Given the description of an element on the screen output the (x, y) to click on. 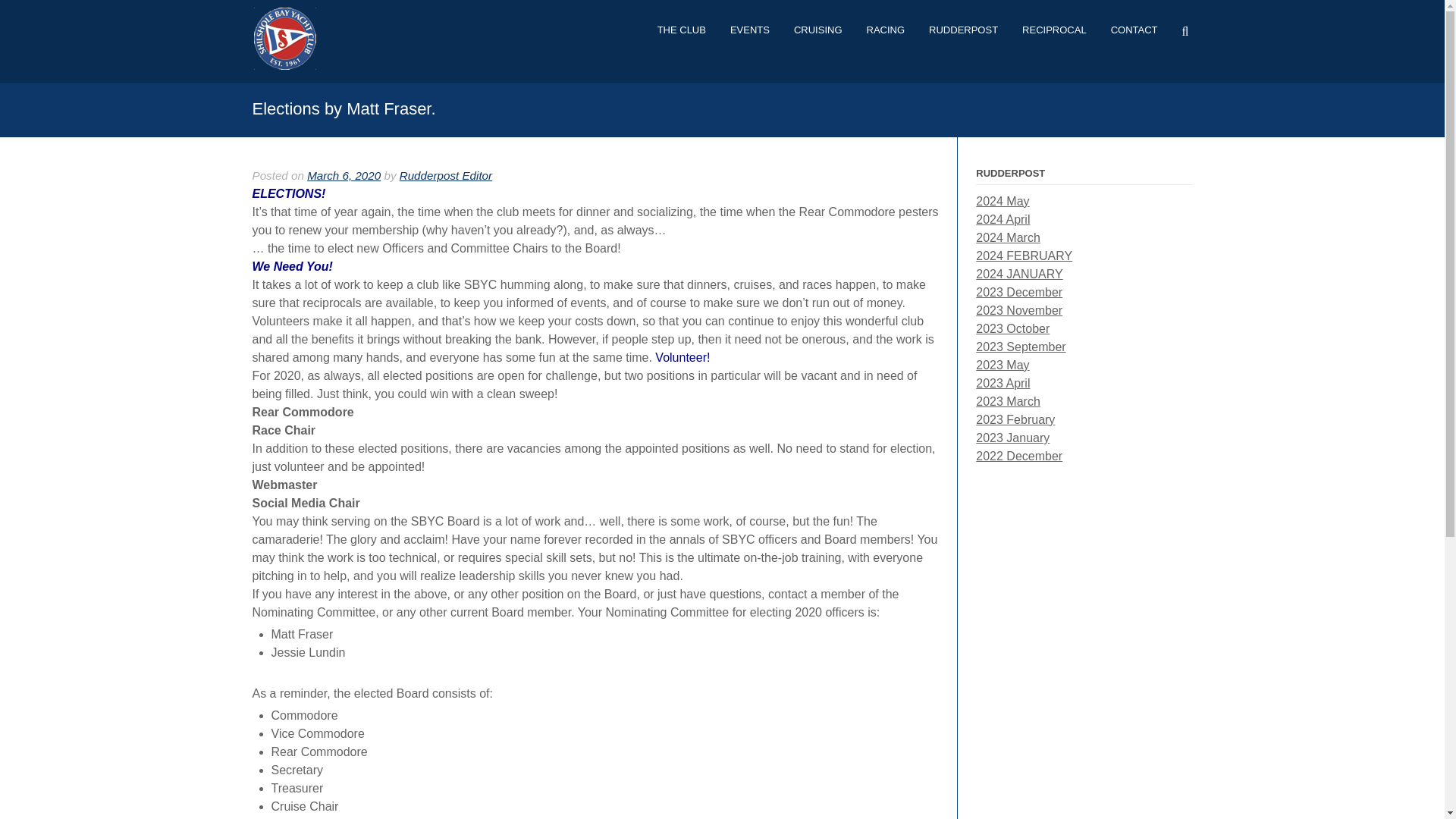
Rudderpost Editor (445, 174)
CONTACT (1134, 35)
2023 December (1018, 291)
RECIPROCAL (1054, 35)
2024 April (1002, 219)
CRUISING (817, 35)
Shilshole Bay Yacht Club (284, 65)
2022 December (1018, 455)
2024 May (1002, 201)
2023 April (1002, 382)
March 6, 2020 (343, 174)
RUDDERPOST (963, 35)
2024 JANUARY (1018, 273)
2024 March (1008, 237)
2023 February (1014, 419)
